Given the description of an element on the screen output the (x, y) to click on. 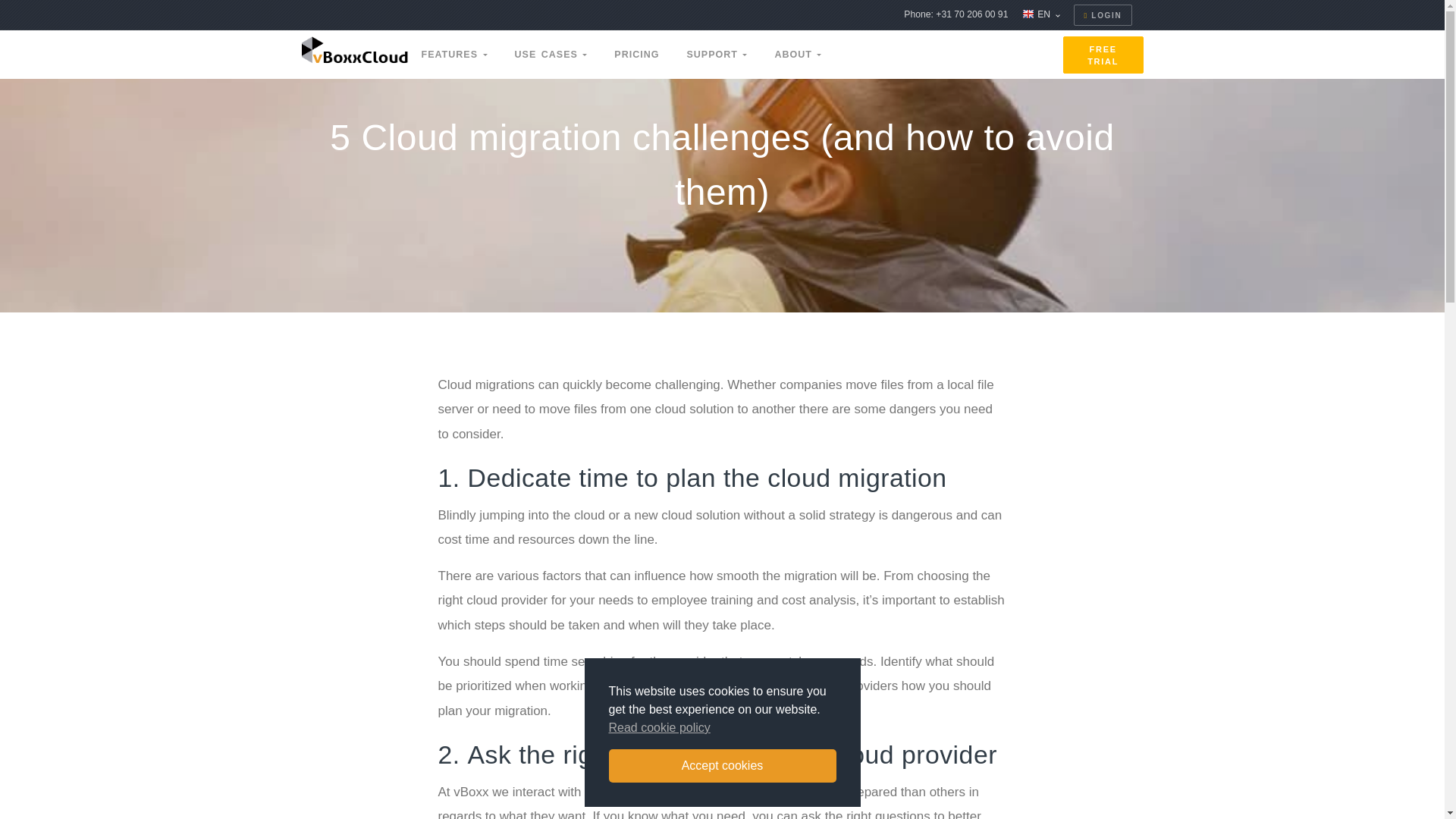
USE CASES (549, 54)
SUPPORT (716, 54)
LOGIN (1102, 14)
PRICING (635, 54)
FEATURES (453, 54)
